Given the description of an element on the screen output the (x, y) to click on. 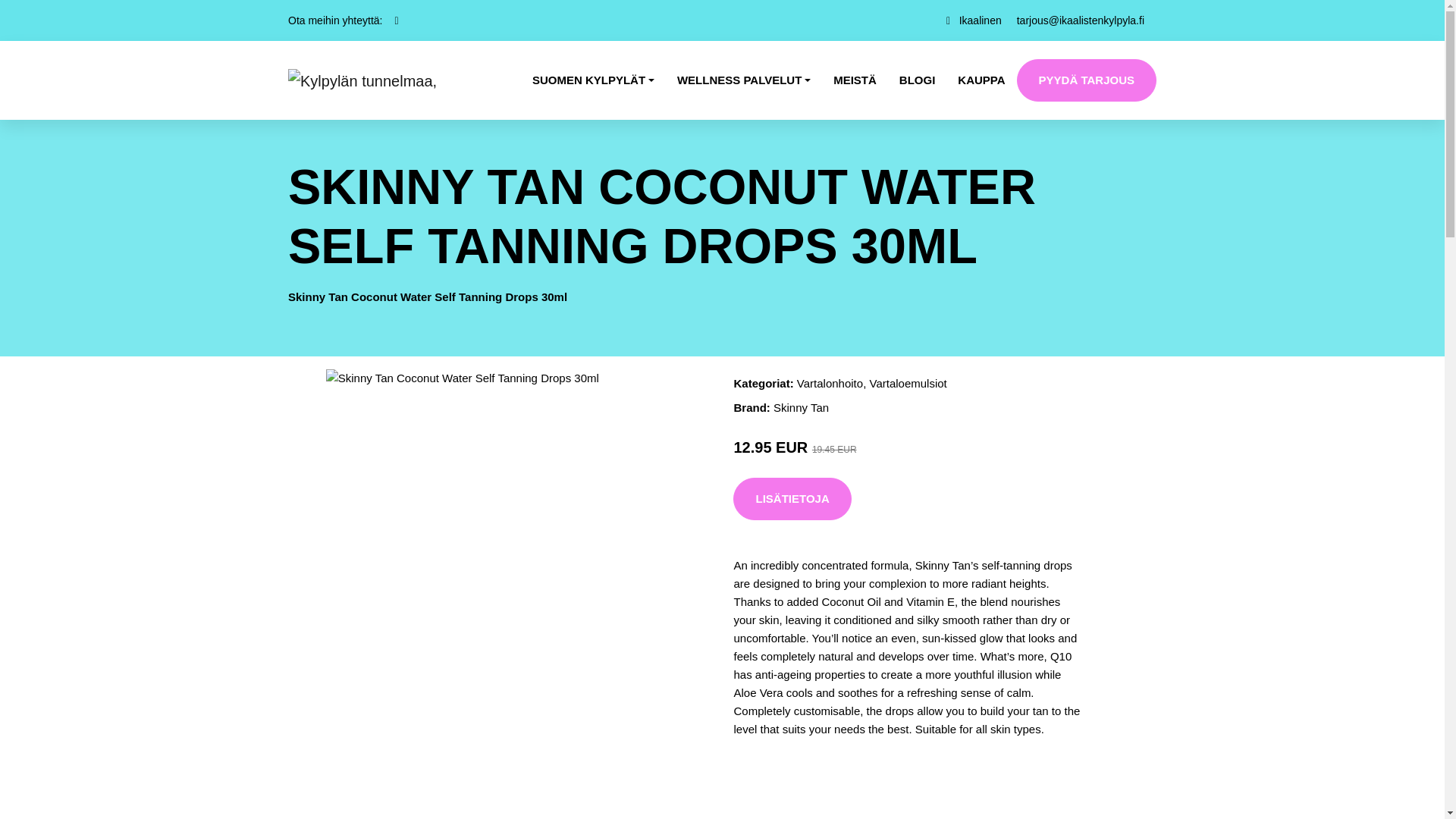
WELLNESS PALVELUT (743, 79)
Vartaloemulsiot (907, 382)
Ikaalinen (980, 20)
Vartalonhoito (829, 382)
